Given the description of an element on the screen output the (x, y) to click on. 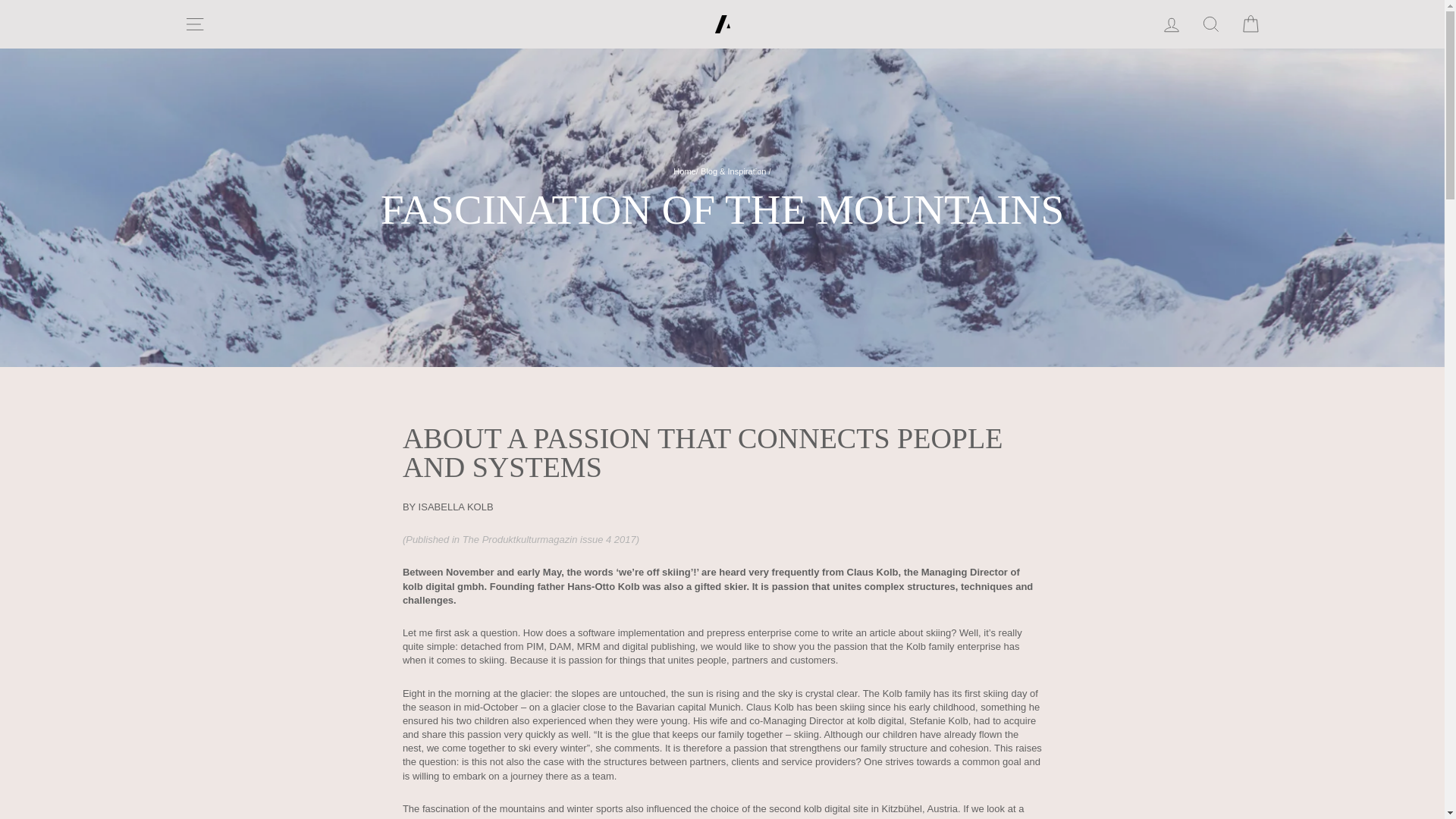
Back to the frontpage (683, 171)
